Given the description of an element on the screen output the (x, y) to click on. 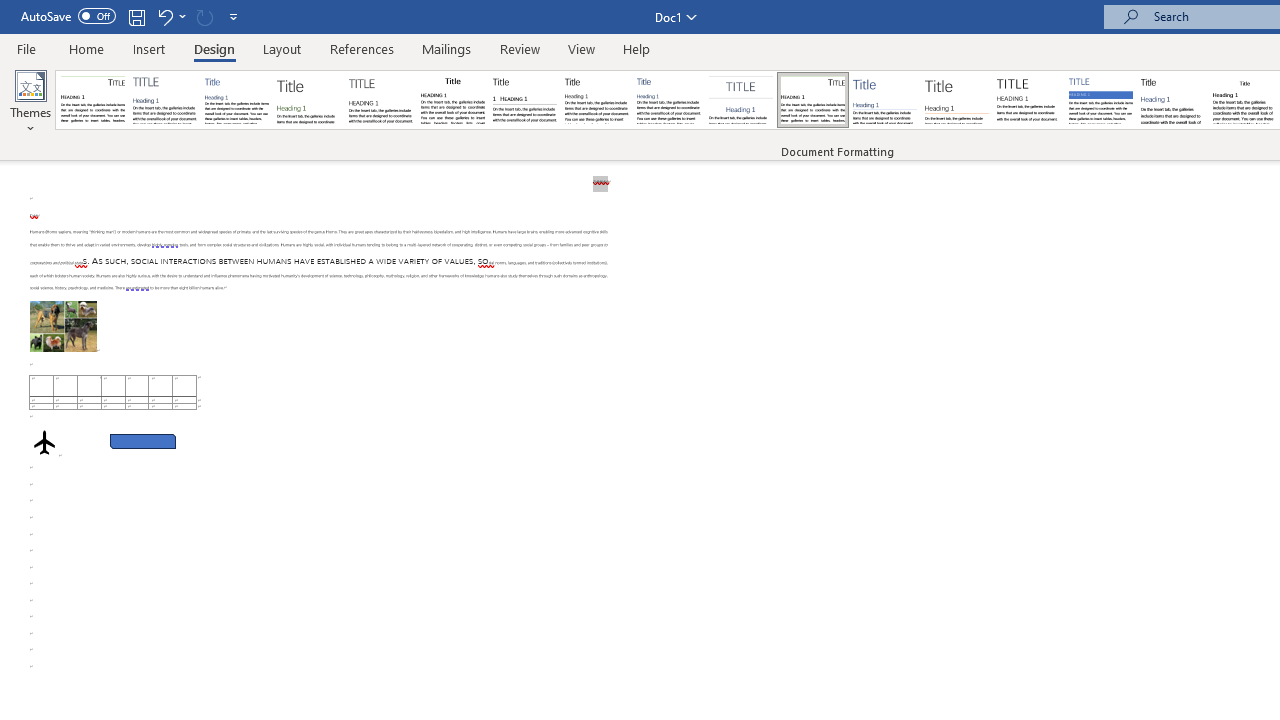
Design (214, 48)
Lines (Distinctive) (812, 100)
Lines (Simple) (884, 100)
Can't Repeat (204, 15)
Rectangle: Diagonal Corners Snipped 2 (143, 441)
Insert (149, 48)
Undo Apply Quick Style Set (164, 15)
Basic (Simple) (236, 100)
Save (136, 15)
Help (637, 48)
Layout (282, 48)
Casual (669, 100)
Airplane with solid fill (43, 442)
Centered (740, 100)
